Given the description of an element on the screen output the (x, y) to click on. 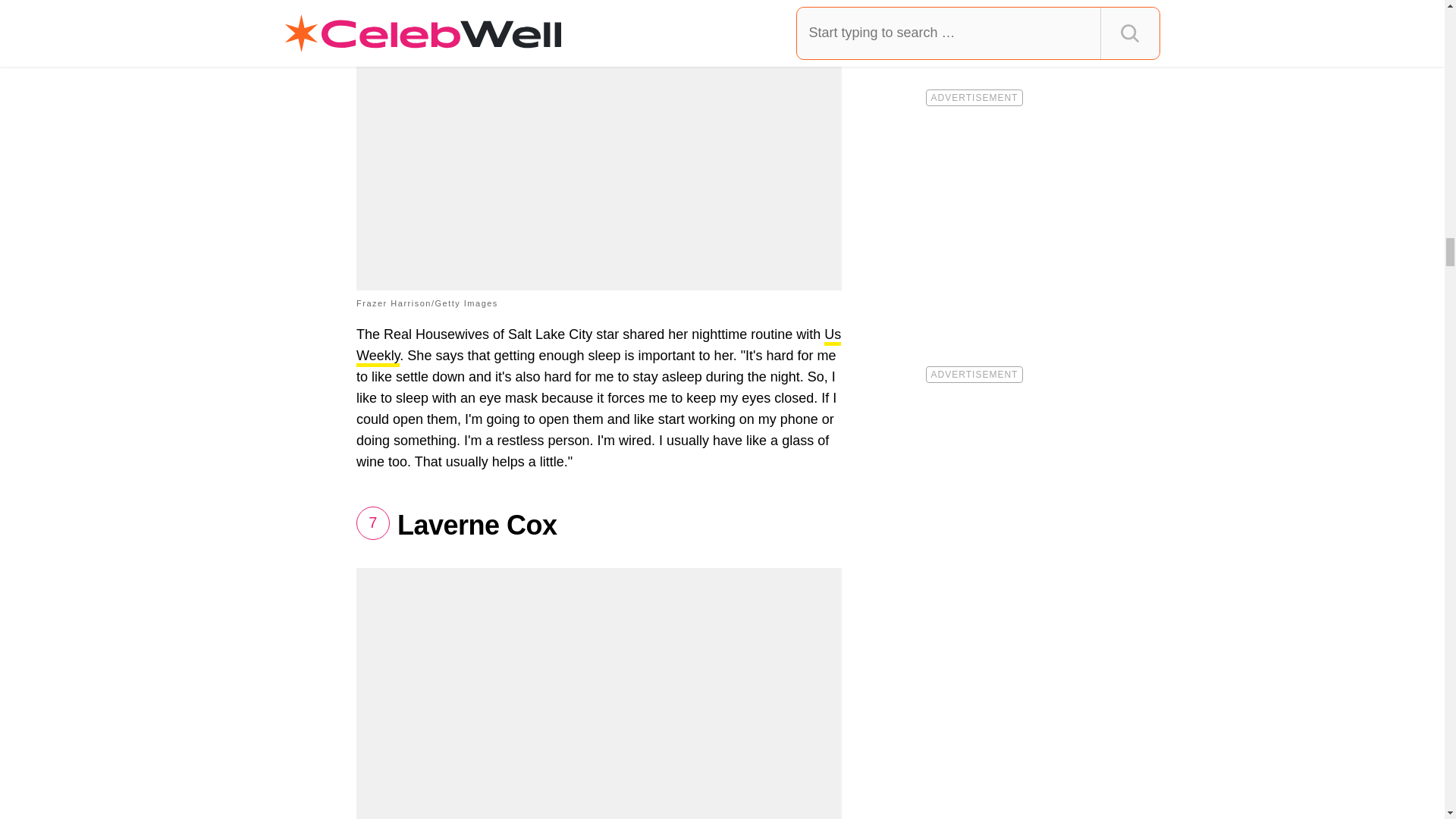
Us Weekly (598, 346)
